Given the description of an element on the screen output the (x, y) to click on. 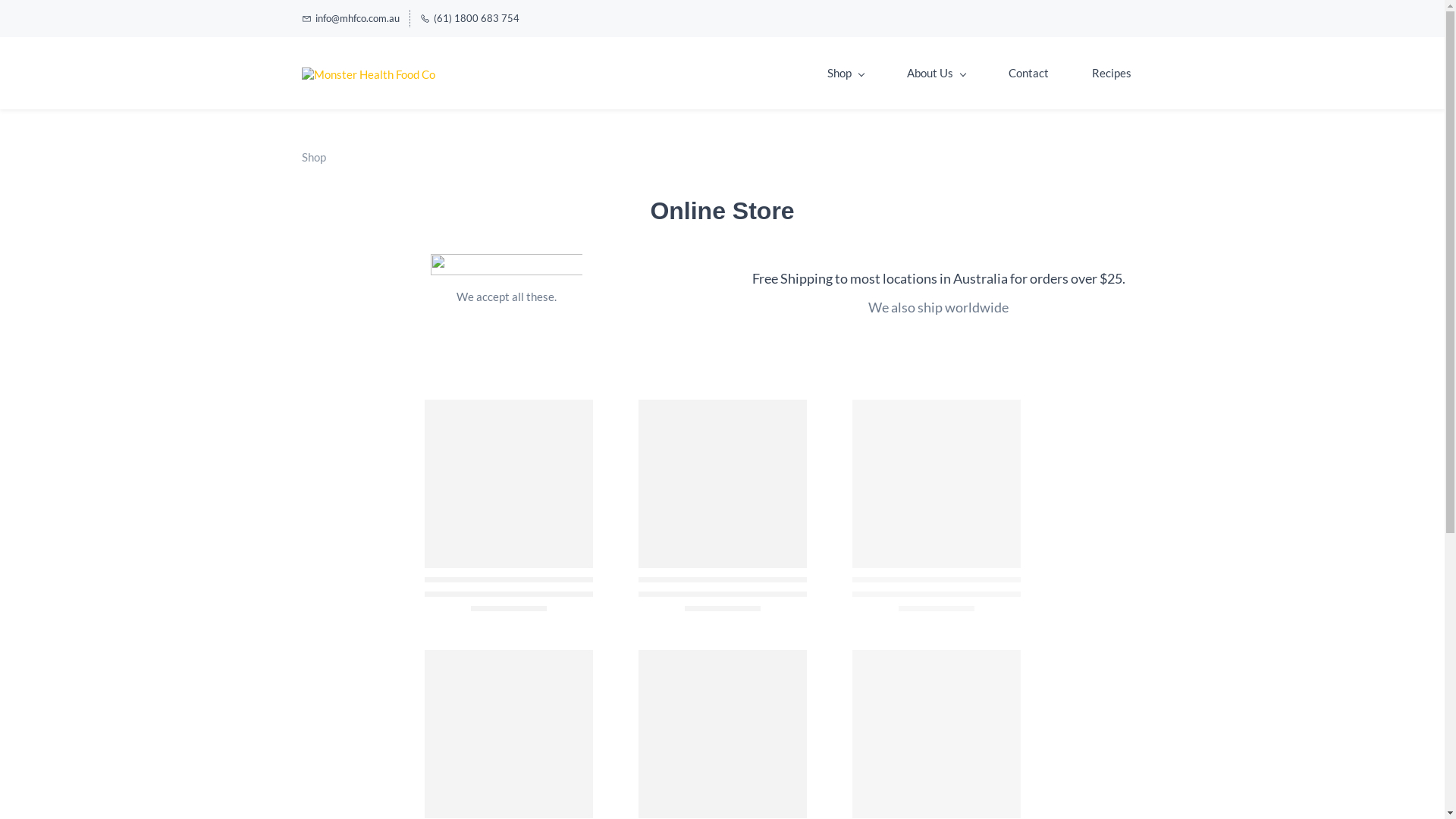
Recipes Element type: text (1111, 72)
info@mhfco.com.au Element type: text (350, 18)
(61) 1800 683 754 Element type: text (469, 18)
About Us Element type: text (935, 72)
Shop Element type: text (844, 72)
Contact Element type: text (1028, 72)
